Given the description of an element on the screen output the (x, y) to click on. 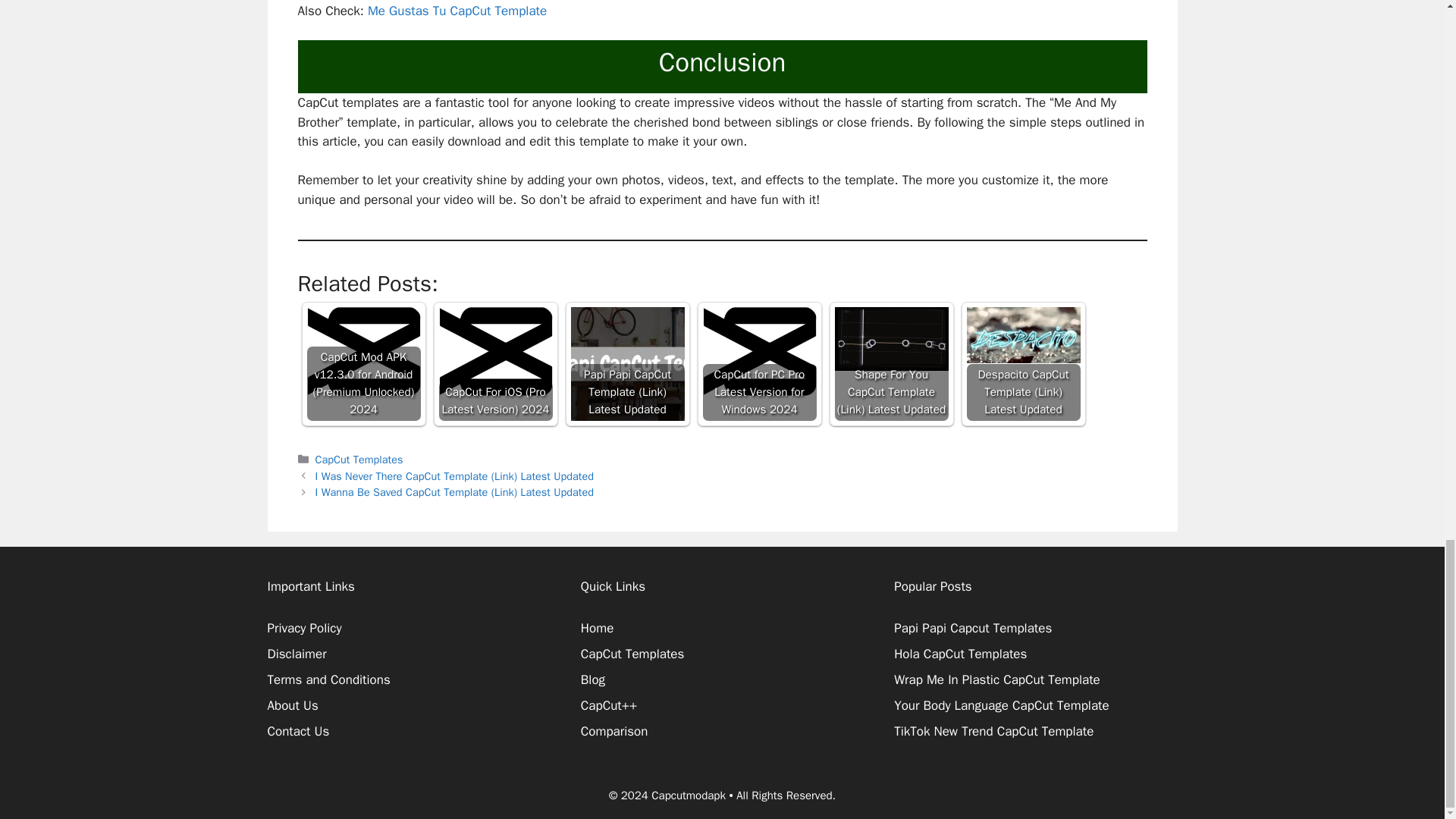
About Us (291, 705)
CapCut for PC Pro Latest Version for Windows 2024 (758, 363)
Home (596, 627)
CapCut Templates (359, 459)
Me Gustas Tu CapCut Template (457, 10)
Contact Us (297, 731)
Hola CapCut Templates (959, 653)
Privacy Policy (303, 627)
Terms and Conditions (328, 679)
Papi Papi Capcut Templates (972, 627)
Disclaimer (296, 653)
Comparison (613, 731)
CapCut Templates (632, 653)
CapCut for PC Pro Latest Version for Windows 2024 (758, 351)
Blog (592, 679)
